Given the description of an element on the screen output the (x, y) to click on. 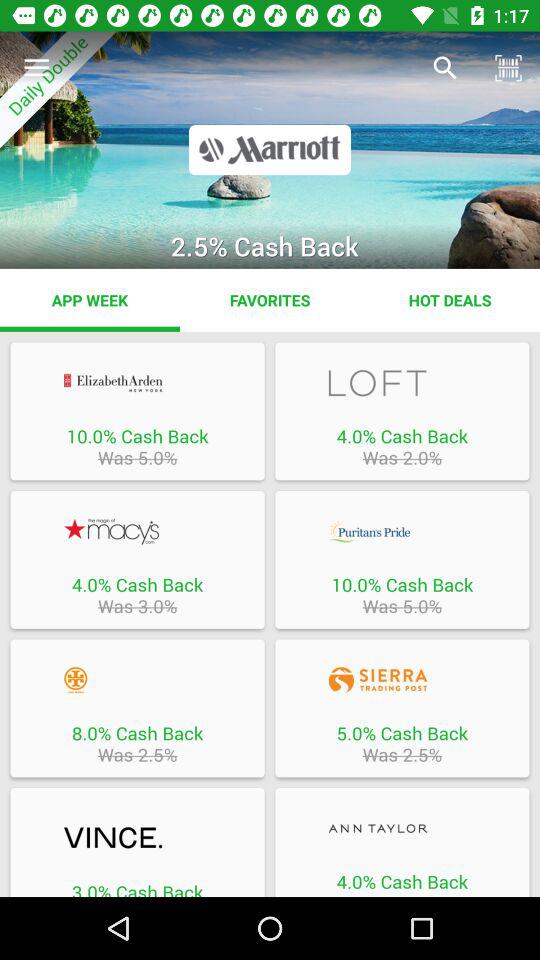
launch the item to the left of the favorites app (90, 299)
